Given the description of an element on the screen output the (x, y) to click on. 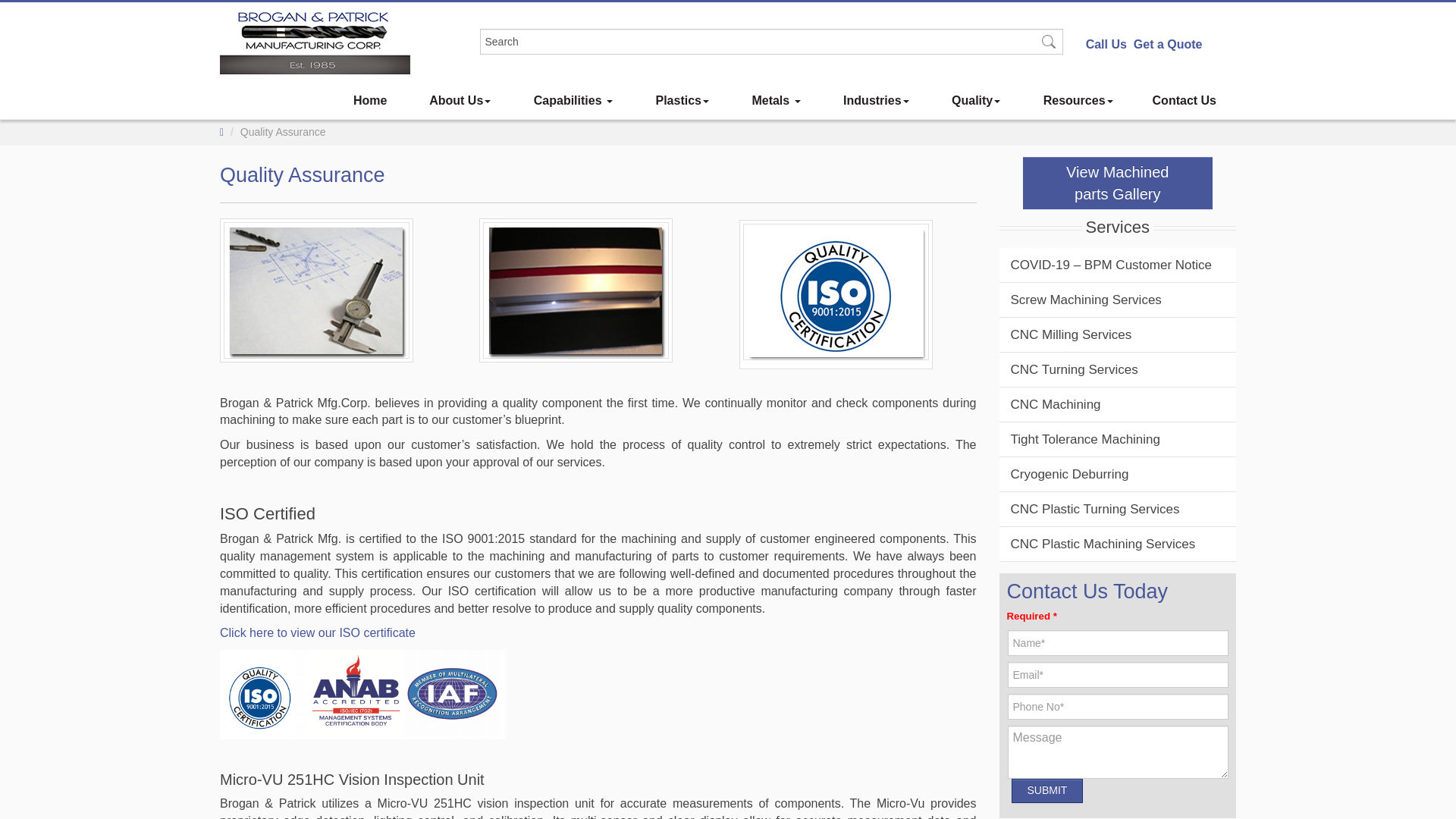
 About Us (458, 99)
 Plastics (680, 99)
 Capabilities (571, 99)
Get a Quote (1168, 43)
Search (770, 41)
Search (770, 41)
Call Us (1106, 43)
SUBMIT (1047, 790)
